Given the description of an element on the screen output the (x, y) to click on. 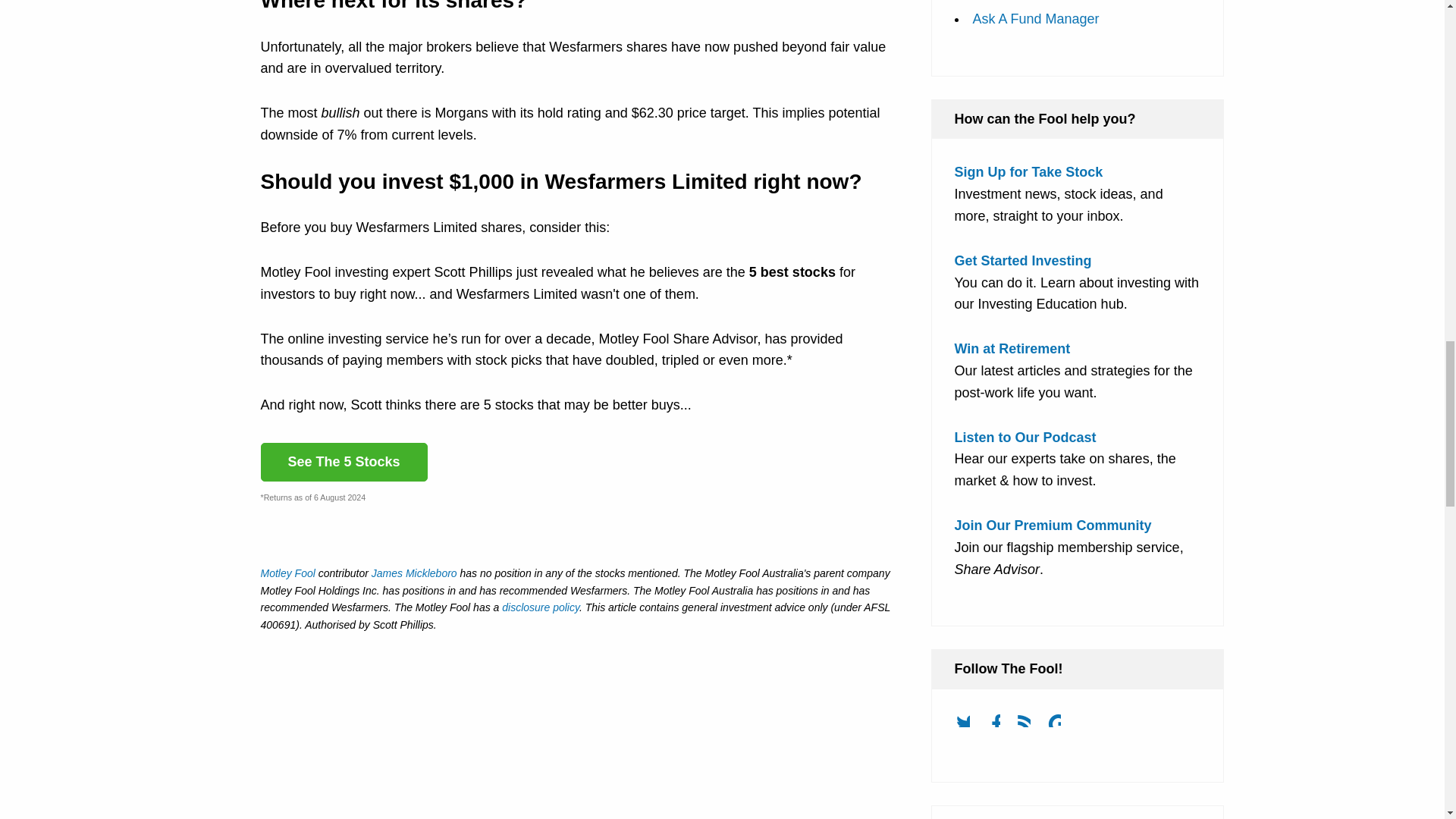
The Motley Fool on Facebook (999, 725)
The Motley Fool RSS Feed (1029, 725)
The Motley Fool Google News Feed (1060, 725)
The Motley Fool on Twitter (968, 725)
